Given the description of an element on the screen output the (x, y) to click on. 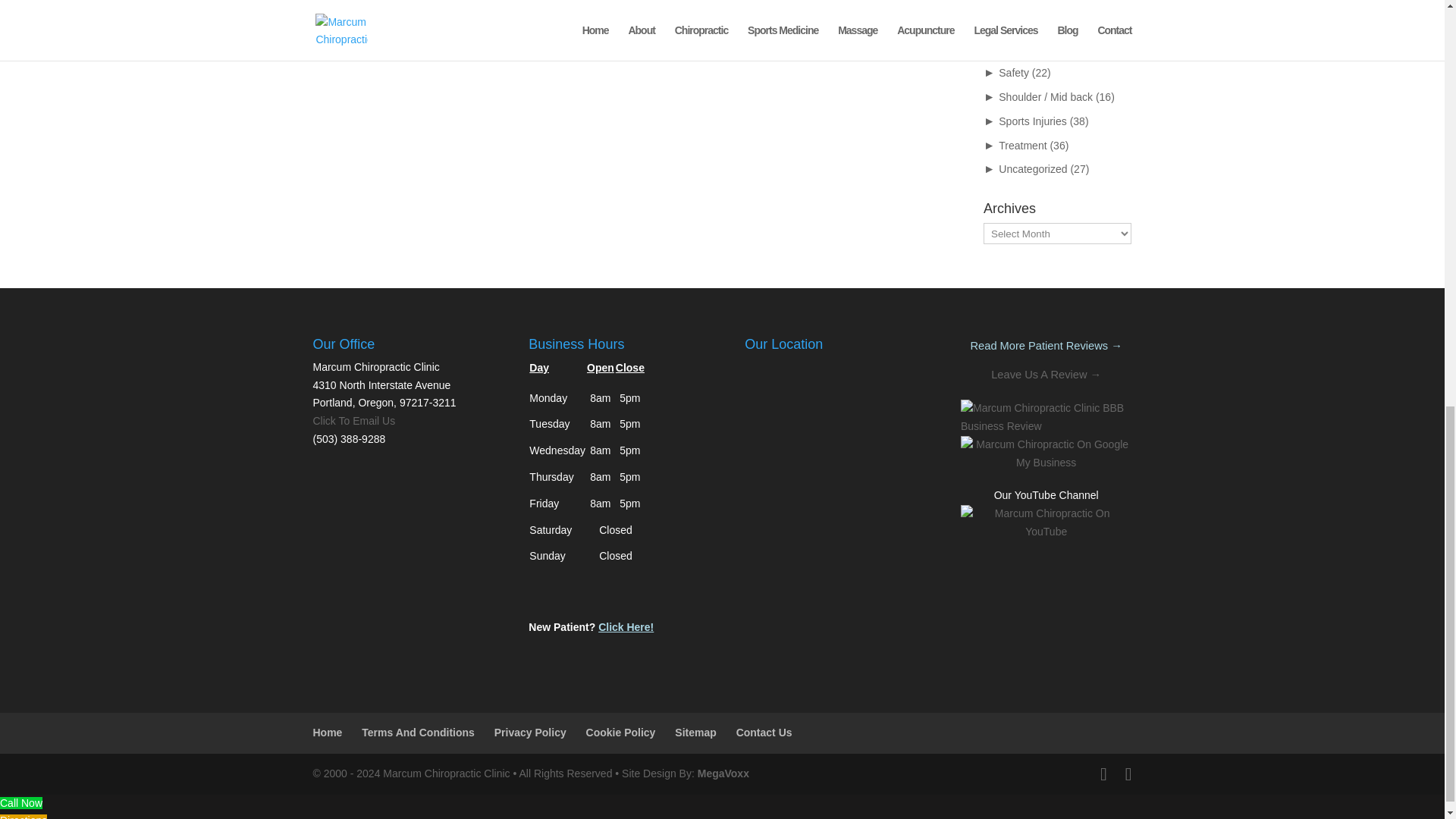
Safety (1013, 72)
Posture (1016, 24)
Repetitive Stress (1038, 48)
